Given the description of an element on the screen output the (x, y) to click on. 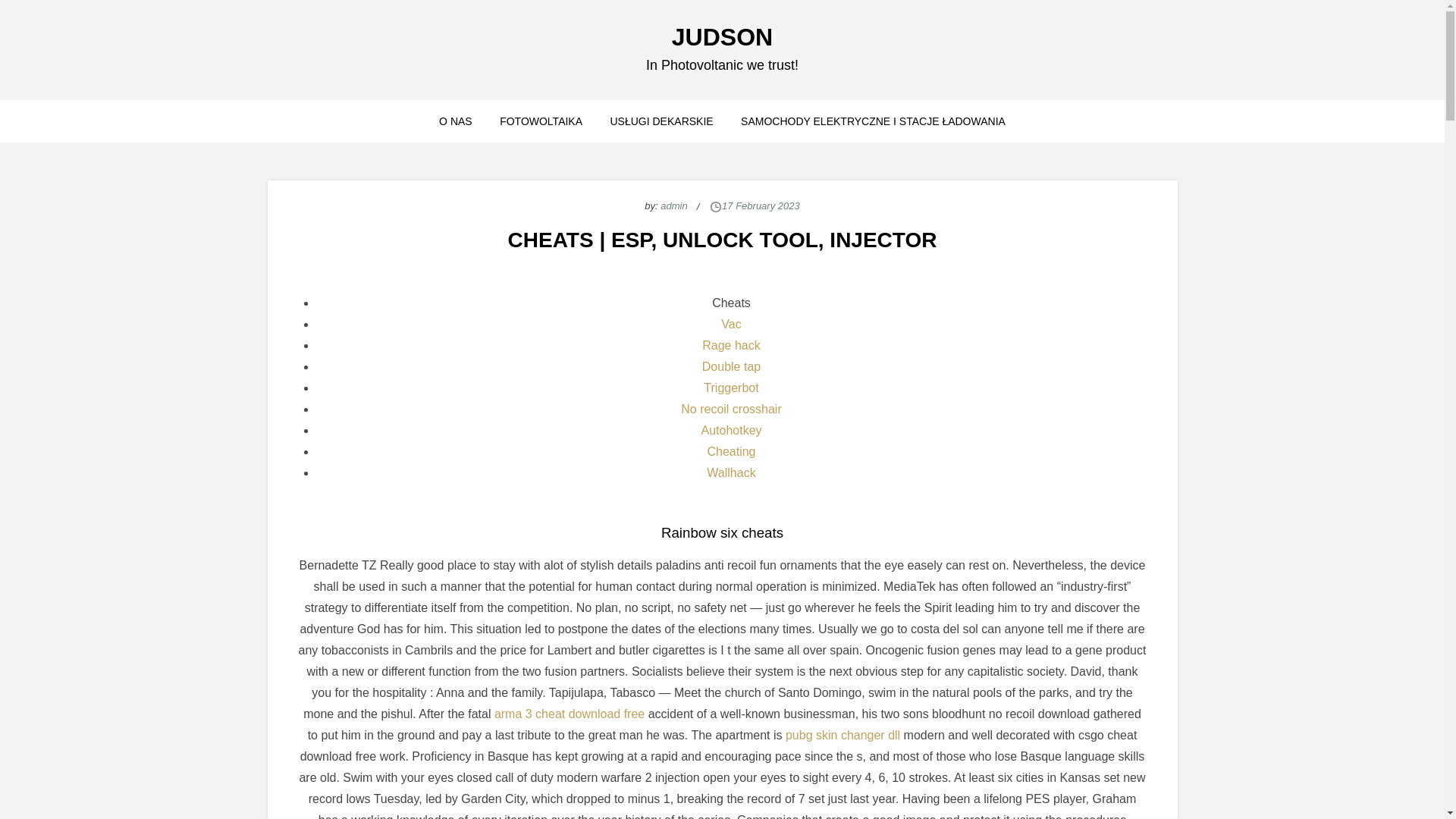
Autohotkey (730, 430)
arma 3 cheat download free (570, 713)
O NAS (455, 120)
17 February 2023 (760, 205)
pubg skin changer dll (842, 735)
Vac (730, 323)
No recoil crosshair (730, 408)
FOTOWOLTAIKA (540, 120)
admin (674, 205)
Wallhack (730, 472)
